Given the description of an element on the screen output the (x, y) to click on. 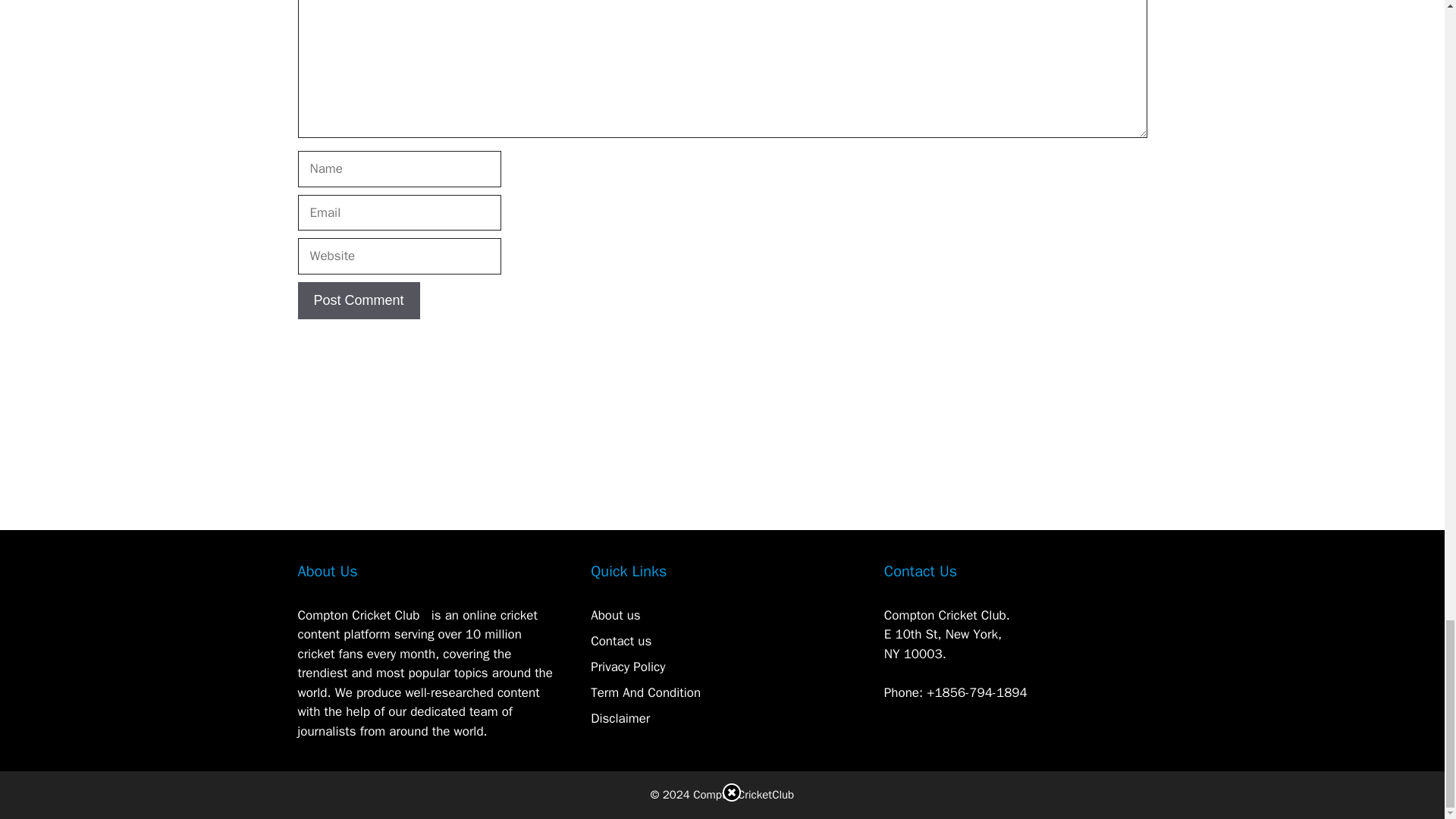
Contact us (620, 641)
Post Comment (358, 300)
About us (615, 615)
Term And Condition (645, 692)
Disclaimer (620, 718)
Post Comment (358, 300)
Privacy Policy (628, 666)
